Given the description of an element on the screen output the (x, y) to click on. 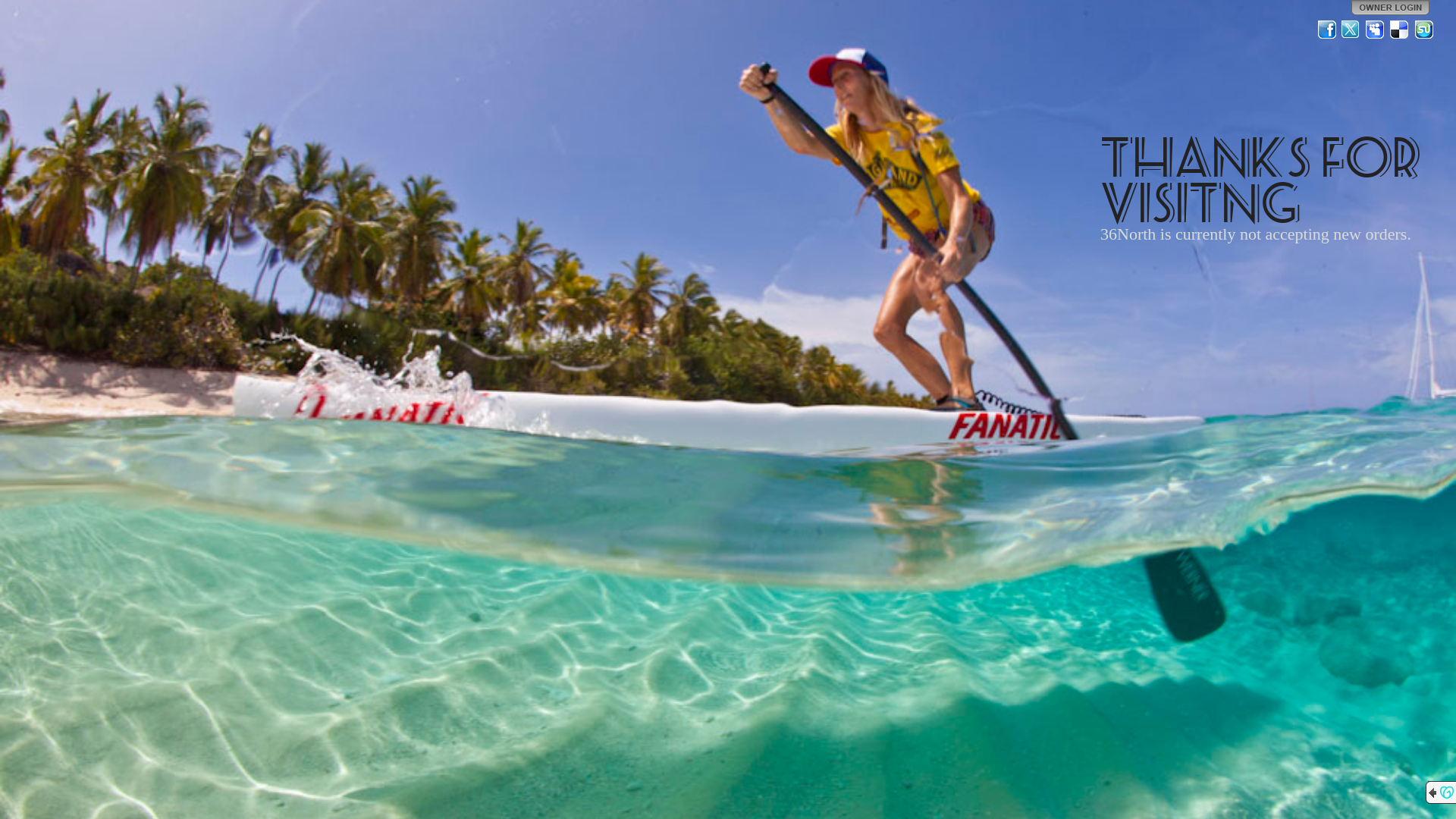
Facebook Element type: text (1326, 29)
Twitter Element type: text (1350, 29)
Del.icio.us Element type: text (1399, 29)
StumbleUpon Element type: text (1423, 29)
MySpace Element type: text (1375, 29)
